Given the description of an element on the screen output the (x, y) to click on. 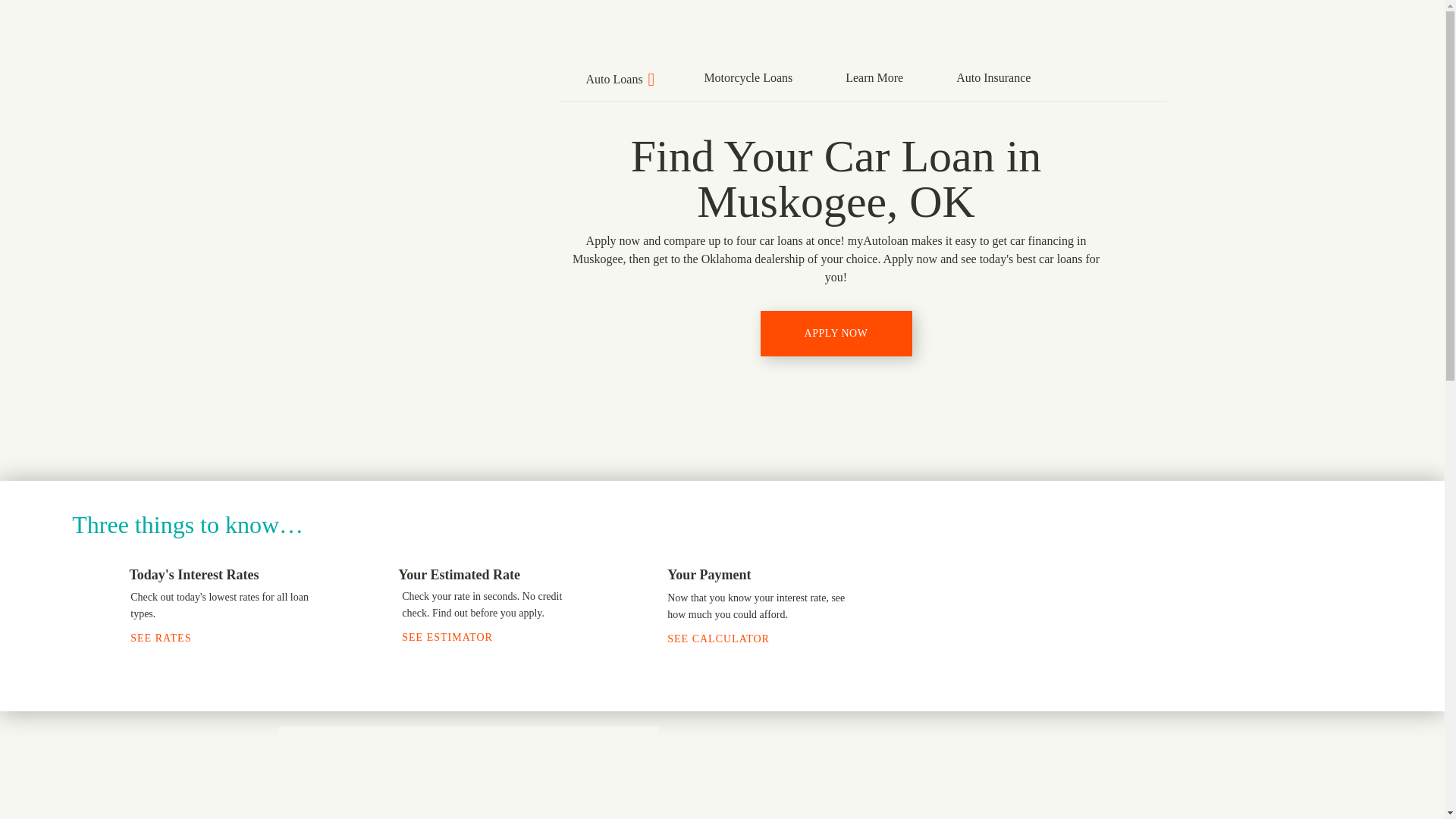
Motorcycle Loans (747, 75)
Auto Insurance (993, 75)
SEE RATES (169, 637)
Auto Loans (618, 76)
Learn More (874, 75)
APPLY NOW (835, 333)
SEE ESTIMATOR (456, 636)
SEE CALCULATOR (726, 638)
